Given the description of an element on the screen output the (x, y) to click on. 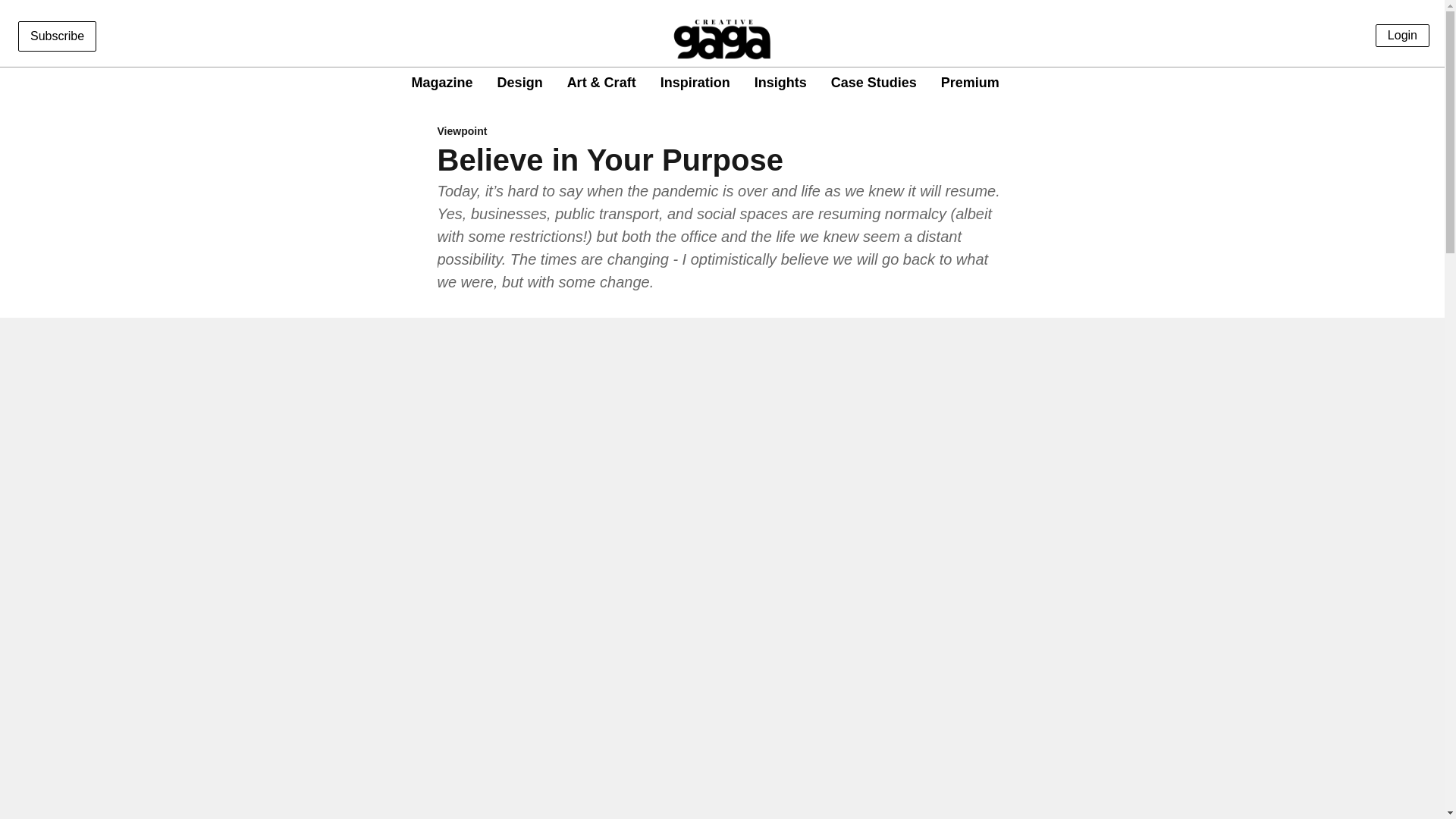
Premium (969, 82)
Design (520, 82)
Dark Mode (1415, 82)
Subscribe (56, 36)
Insights (780, 82)
Inspiration (695, 82)
Login (1402, 35)
Case Studies (874, 82)
Magazine (442, 82)
Viewpoint (721, 132)
